Given the description of an element on the screen output the (x, y) to click on. 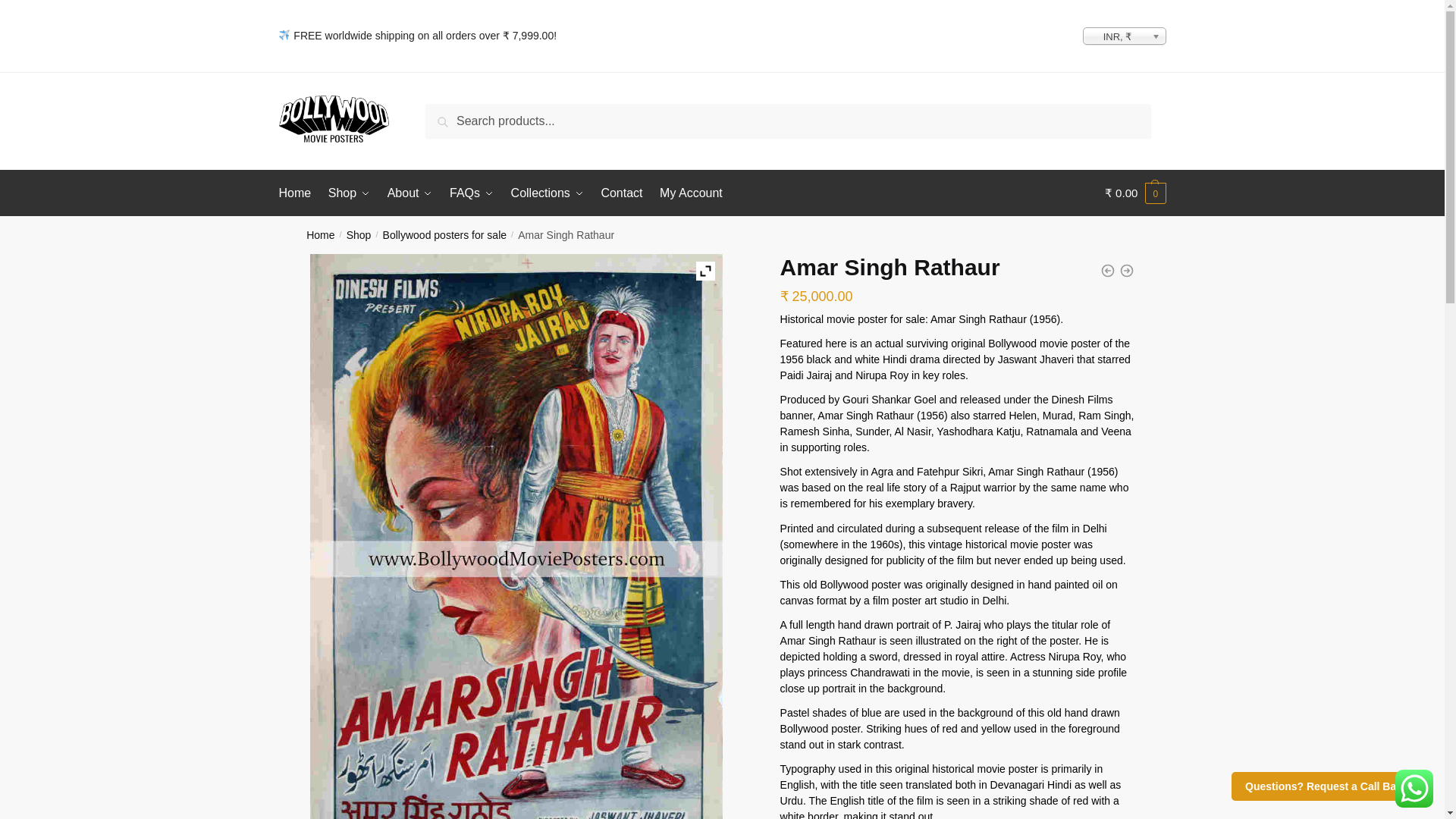
Shop (349, 193)
Search (449, 114)
Collections (547, 193)
FAQs (471, 193)
View your shopping cart (1135, 193)
About (409, 193)
